Given the description of an element on the screen output the (x, y) to click on. 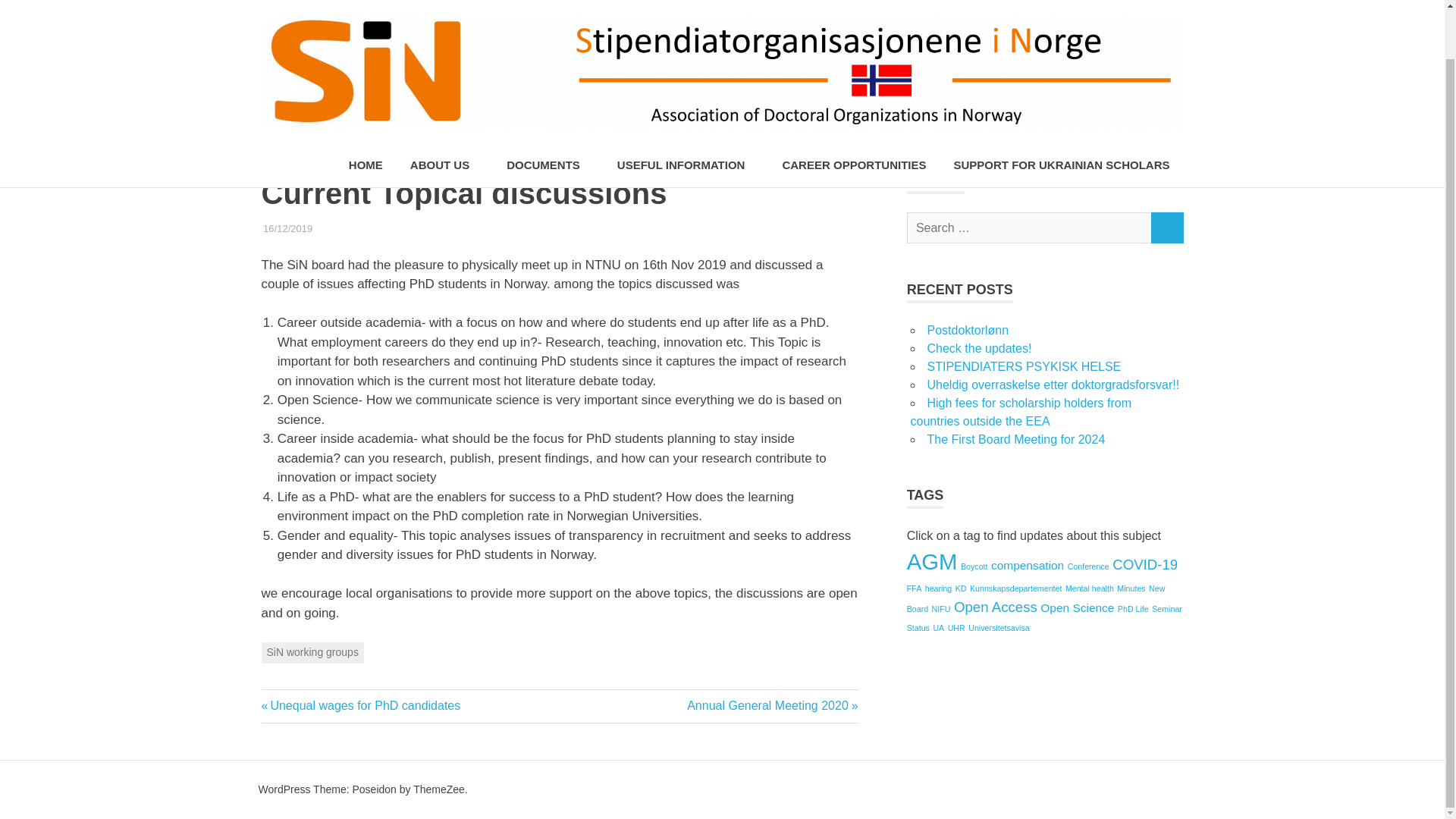
HOME (365, 112)
SIN (450, 228)
Search for: (1029, 227)
12:16 (288, 228)
BOARD MEETINGS (357, 228)
185215914561974 (353, 228)
NEWS (421, 228)
CAREER OPPORTUNITIES (853, 112)
USEFUL INFORMATION (686, 112)
DOCUMENTS (548, 112)
